Given the description of an element on the screen output the (x, y) to click on. 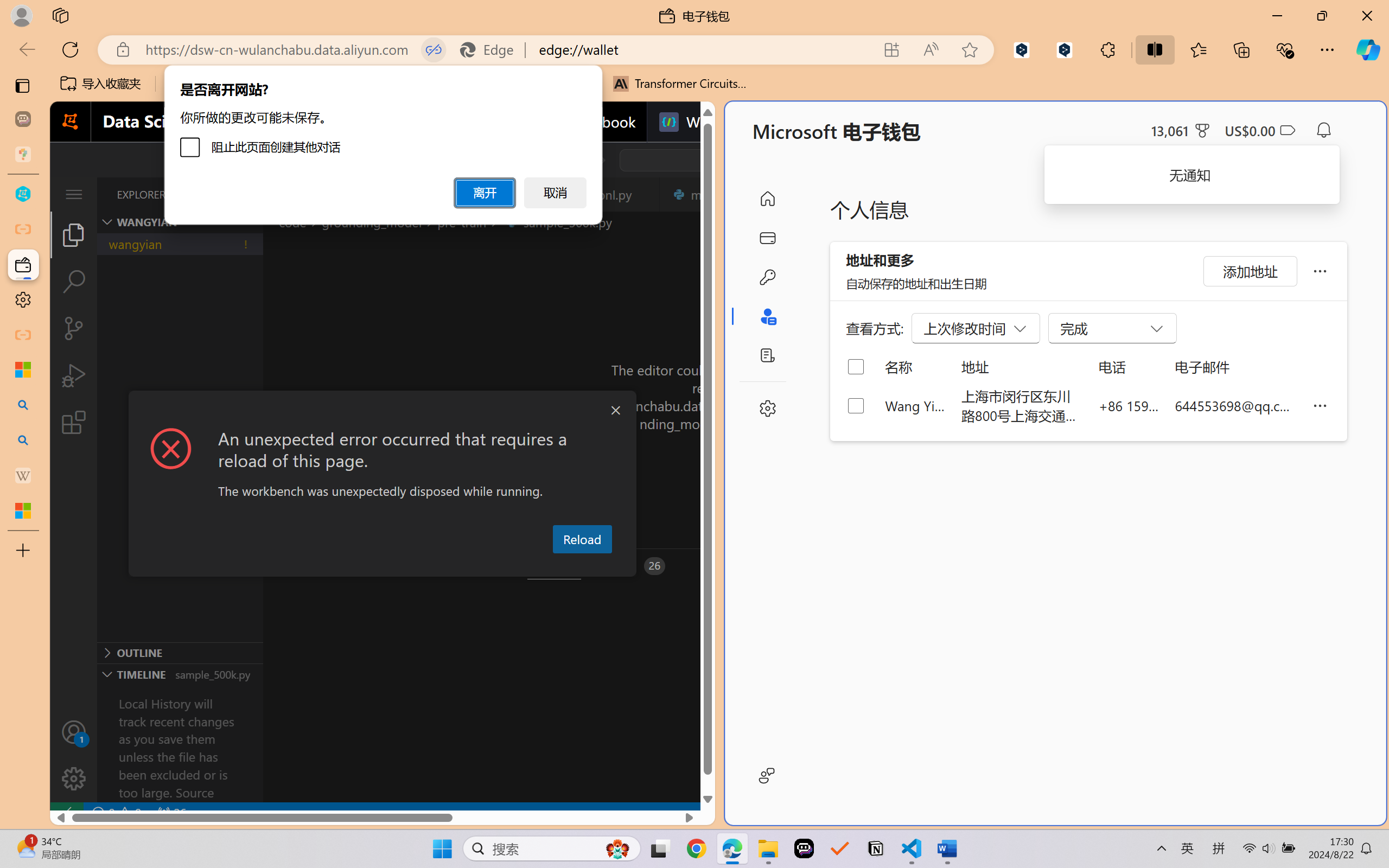
Wang Yian (914, 405)
Copilot (Ctrl+Shift+.) (1368, 49)
remote (66, 812)
